Given the description of an element on the screen output the (x, y) to click on. 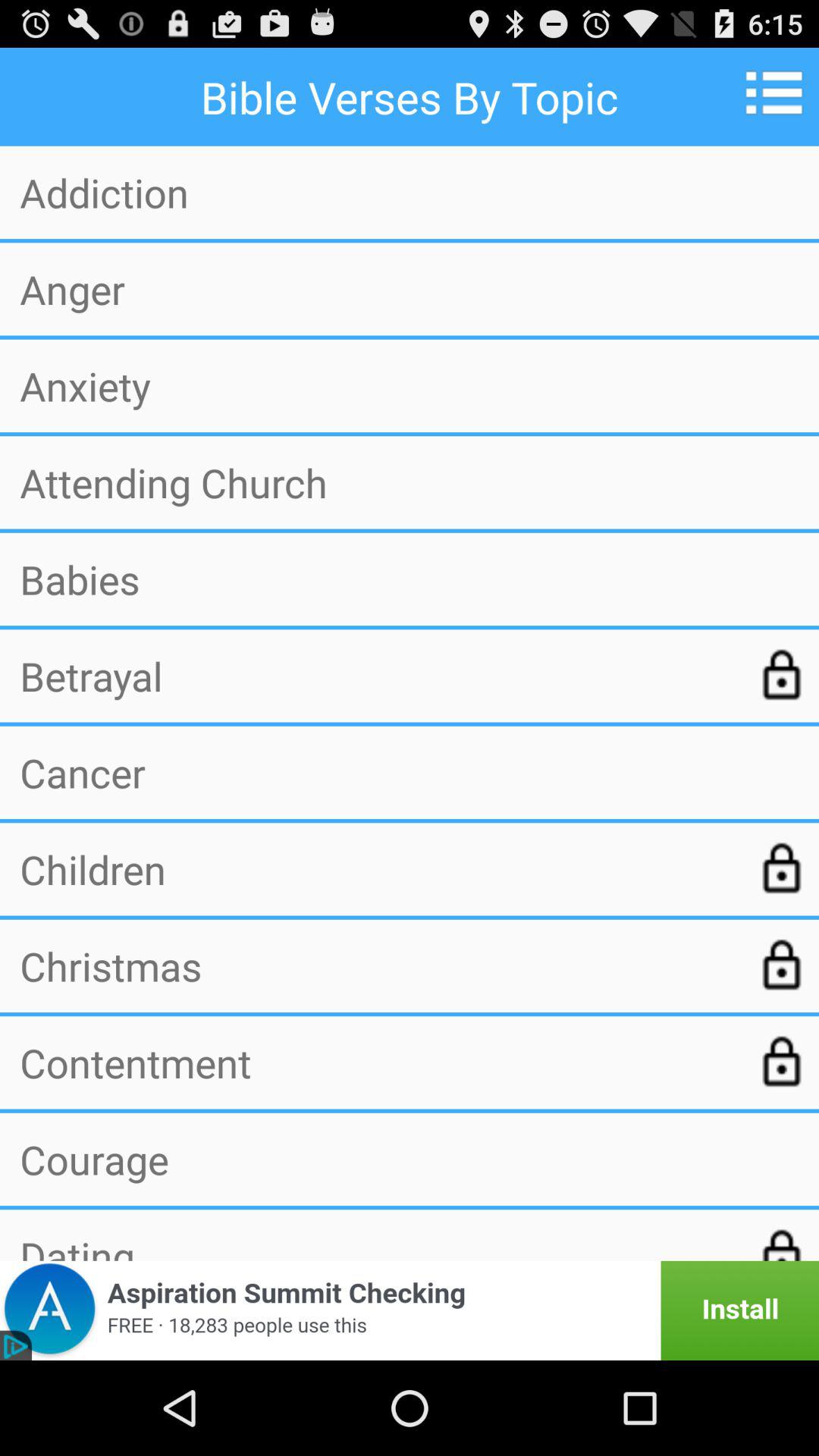
open advertisement (409, 1310)
